Given the description of an element on the screen output the (x, y) to click on. 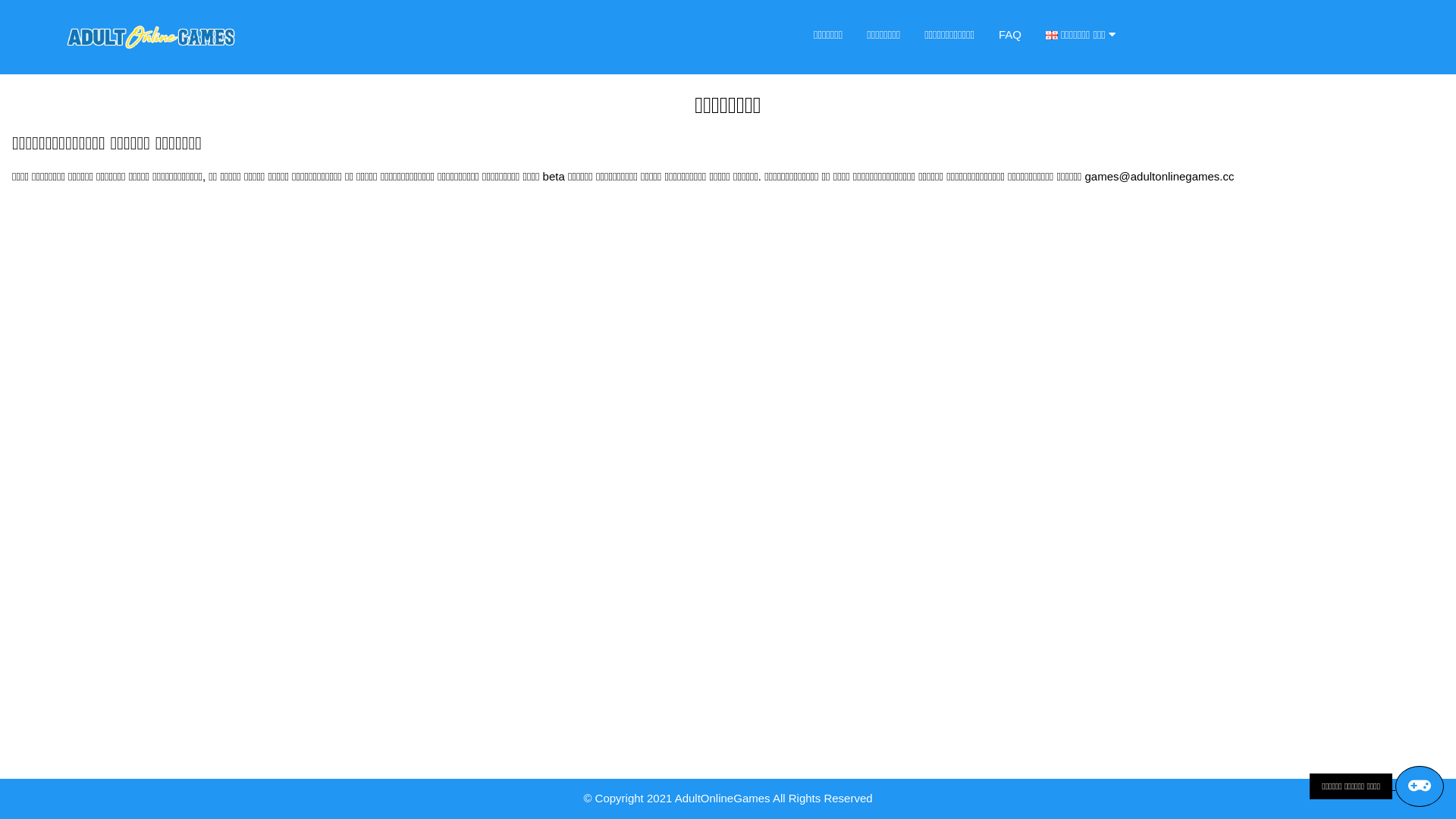
FAQ Element type: text (1009, 35)
